Given the description of an element on the screen output the (x, y) to click on. 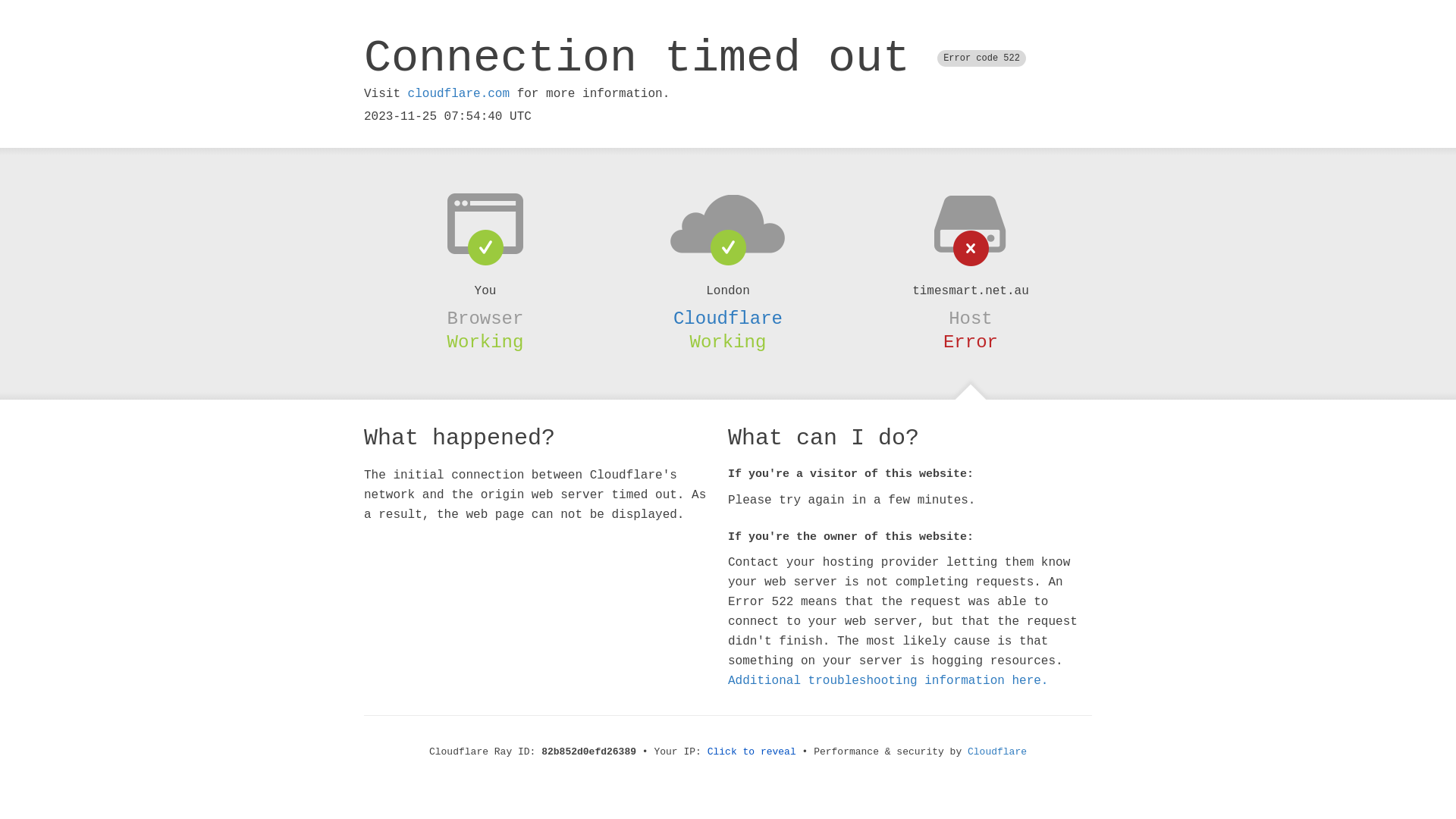
Click to reveal Element type: text (751, 751)
cloudflare.com Element type: text (458, 93)
Cloudflare Element type: text (996, 751)
Additional troubleshooting information here. Element type: text (888, 680)
Cloudflare Element type: text (727, 318)
